Given the description of an element on the screen output the (x, y) to click on. 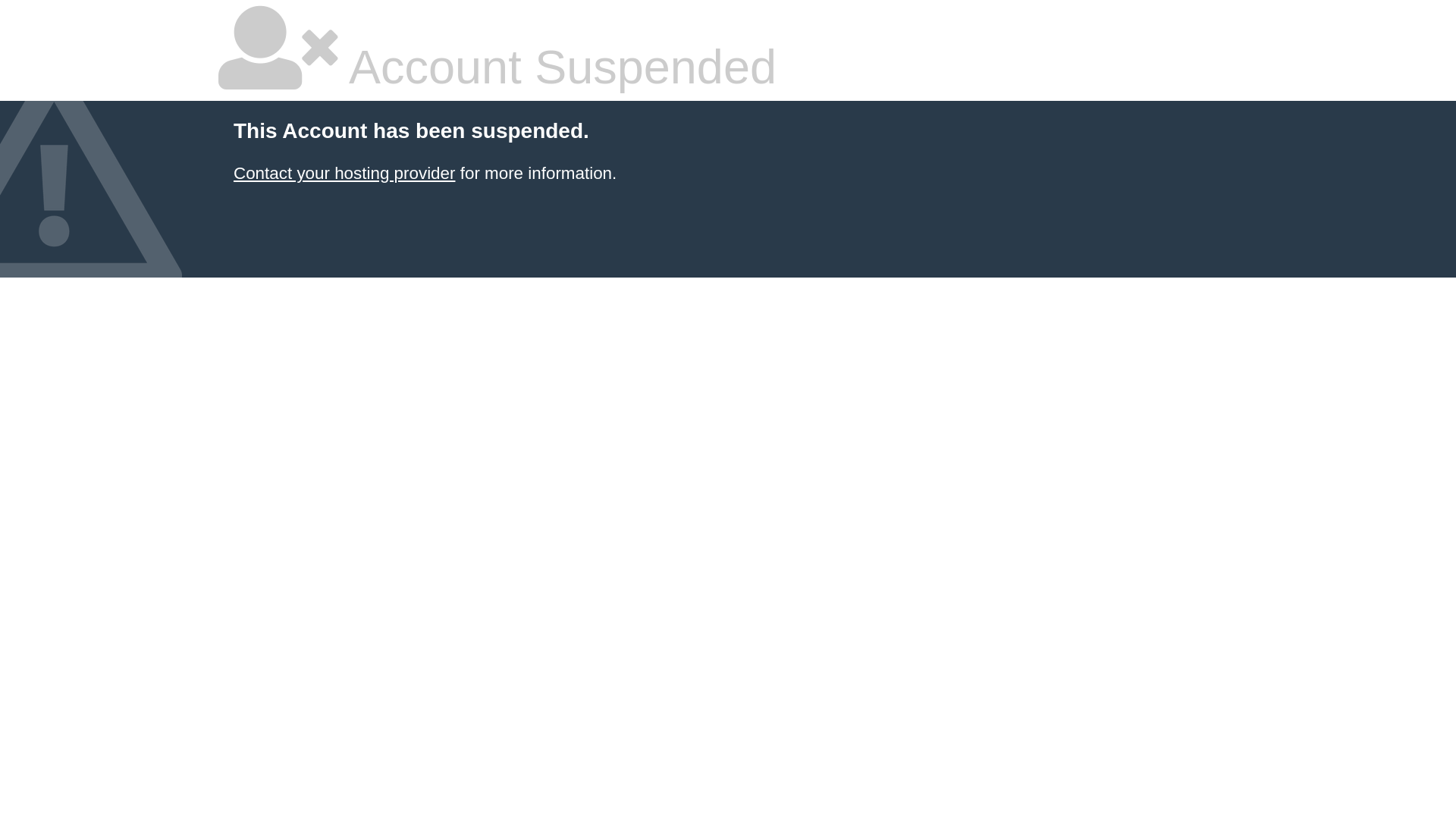
Contact your hosting provider Element type: text (344, 172)
